Given the description of an element on the screen output the (x, y) to click on. 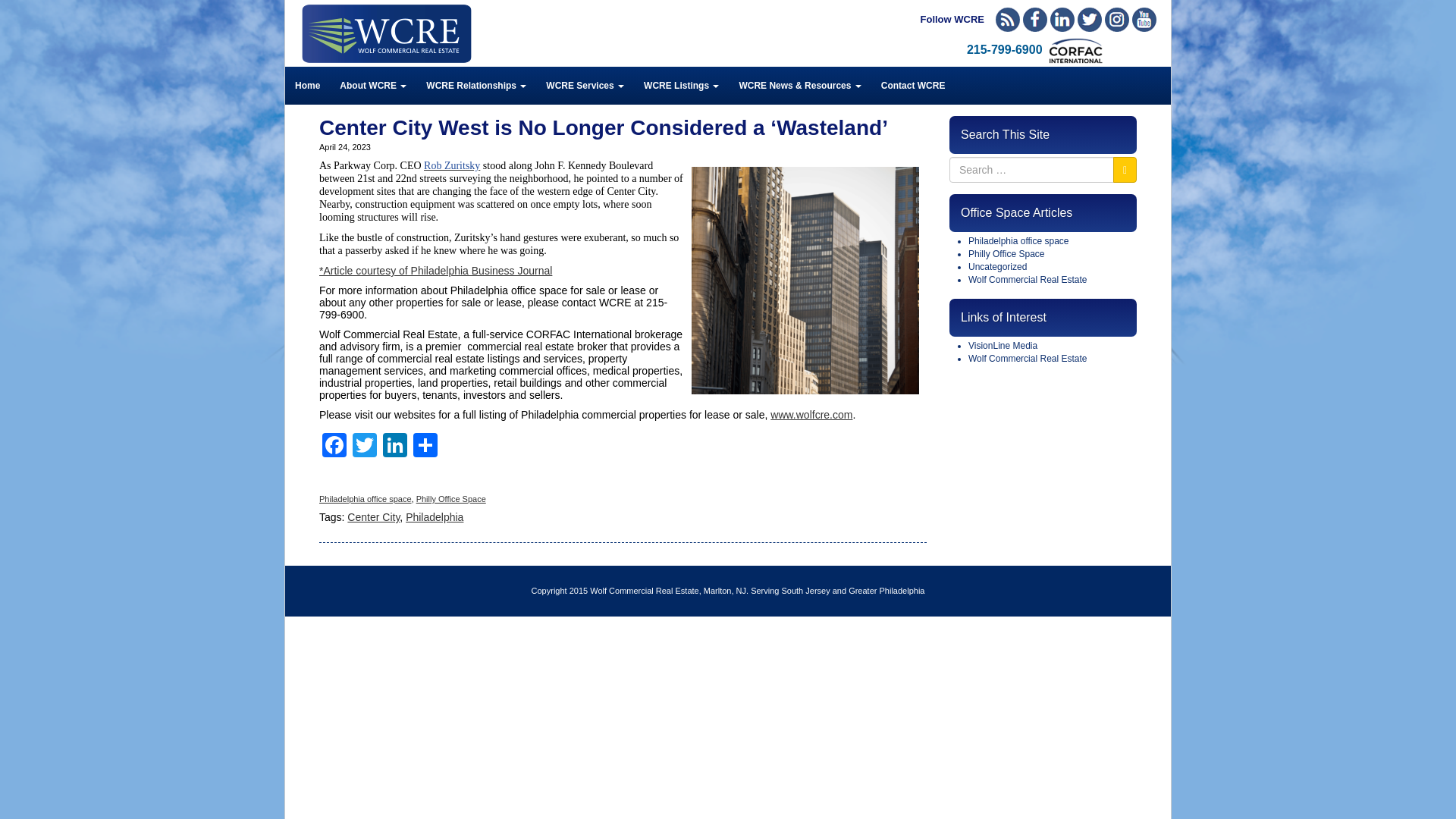
WCRE Listings (681, 85)
Home (307, 85)
Twitter (1089, 19)
LinkedIn (1061, 19)
Blog (1007, 19)
WCRE Services (584, 85)
Facebook (1034, 19)
About WCRE (373, 85)
WCRE Services (584, 85)
About WCRE (373, 85)
